Given the description of an element on the screen output the (x, y) to click on. 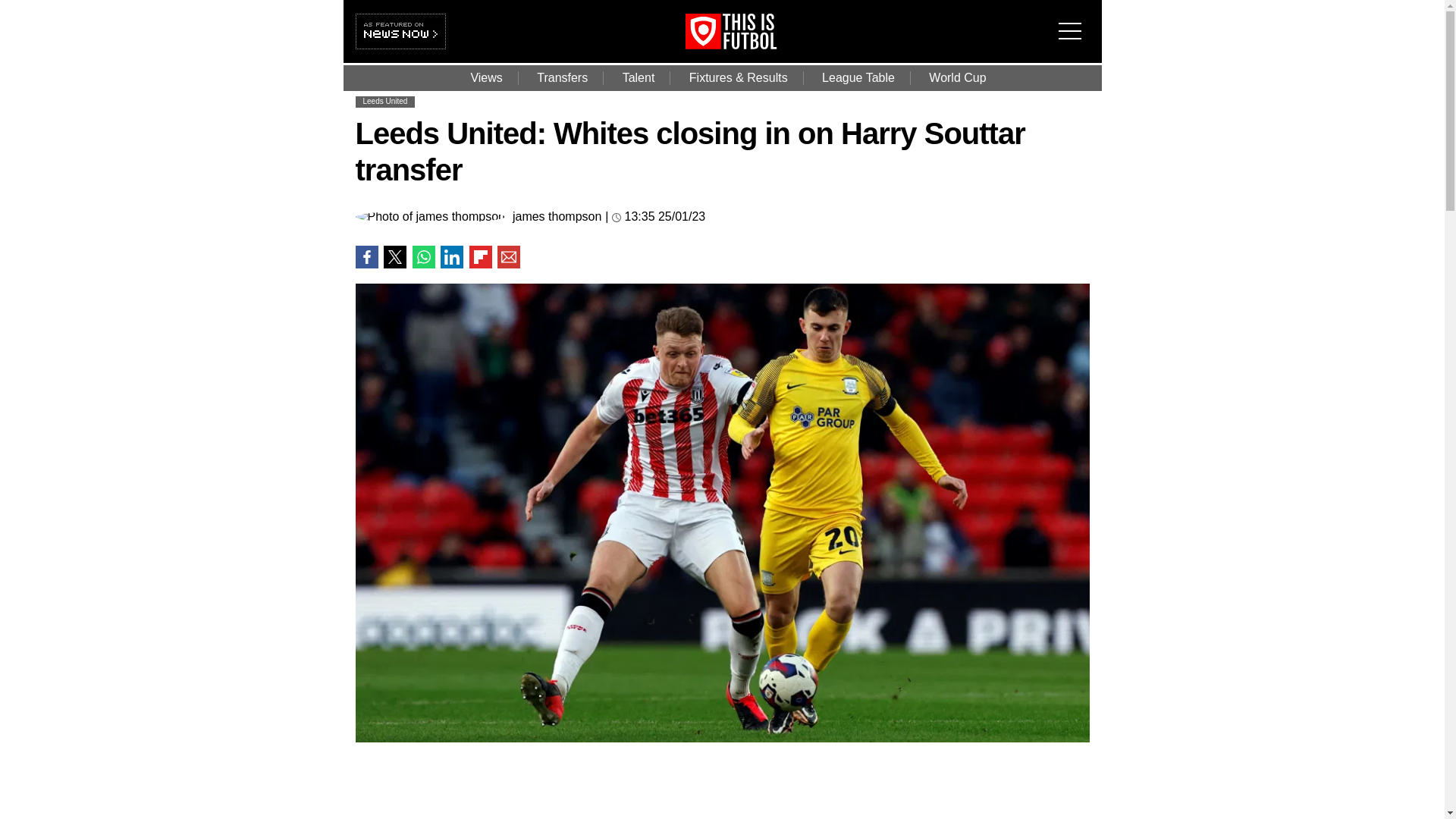
League Table (858, 78)
share on WhatsApp (423, 256)
share on Flipboard (480, 256)
share on LinkedIn (452, 256)
Views (485, 78)
Transfers (561, 78)
share on Twitter (395, 256)
World Cup (957, 78)
share on Facebook (366, 256)
Talent (638, 78)
